Given the description of an element on the screen output the (x, y) to click on. 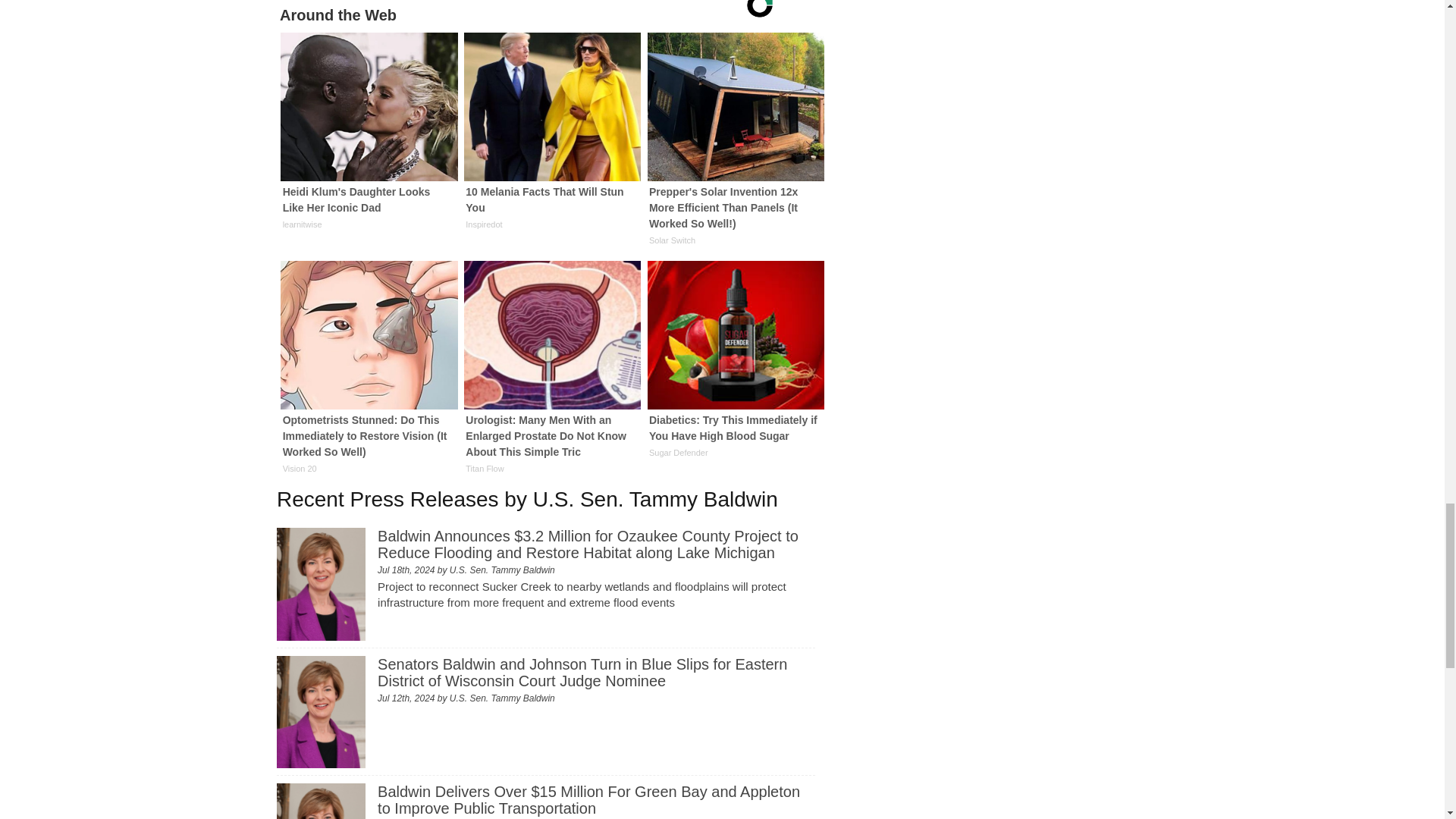
Posts by U.S. Sen. Tammy Baldwin (501, 570)
Posts by U.S. Sen. Tammy Baldwin (501, 697)
